Given the description of an element on the screen output the (x, y) to click on. 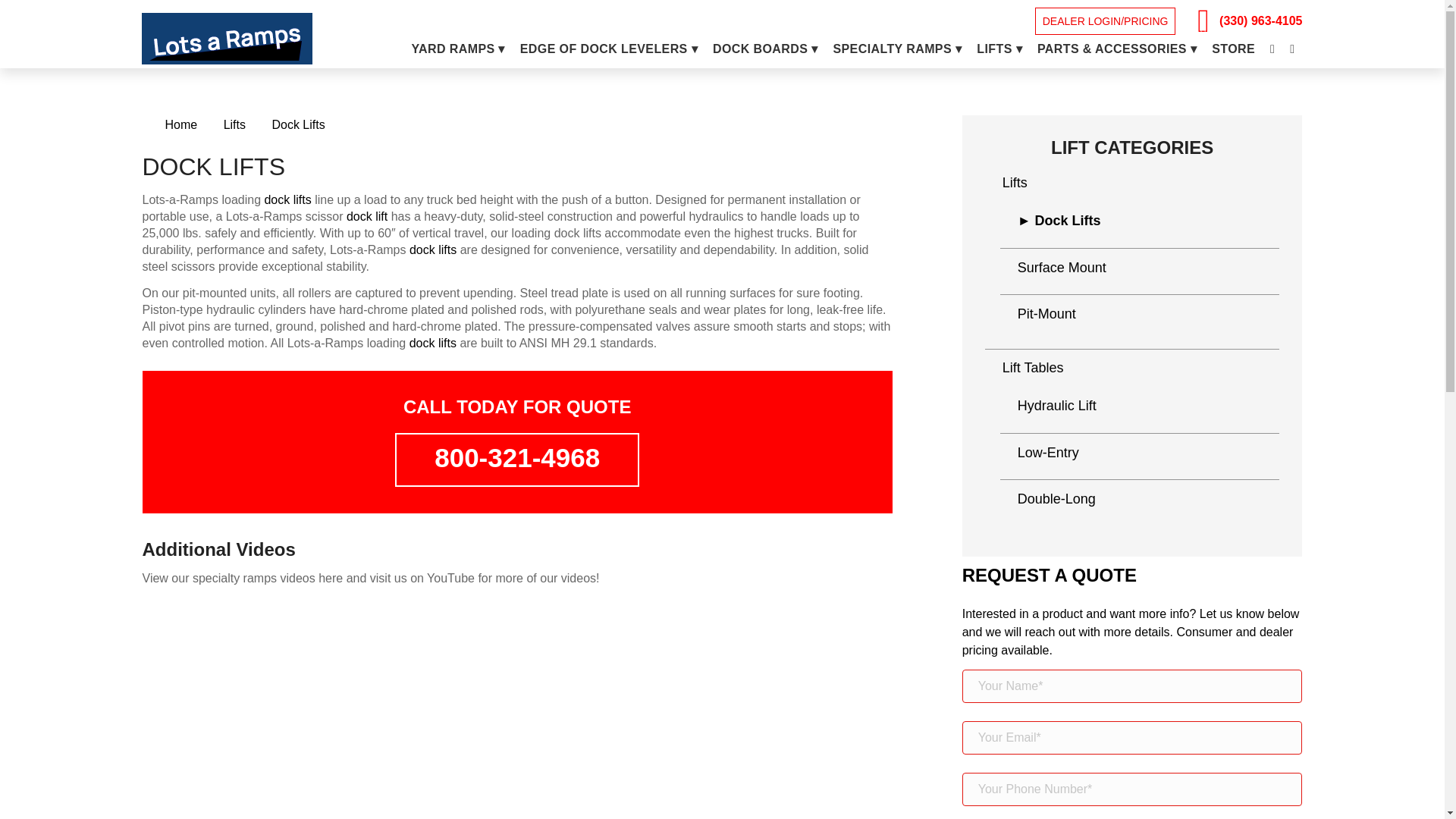
DOCK BOARDS (764, 48)
Lifts (234, 125)
EDGE OF DOCK LEVELERS (608, 48)
SPECIALTY RAMPS (897, 48)
Home (181, 125)
LIFTS (999, 48)
Dock Lifts (297, 125)
YARD RAMPS (457, 48)
